Given the description of an element on the screen output the (x, y) to click on. 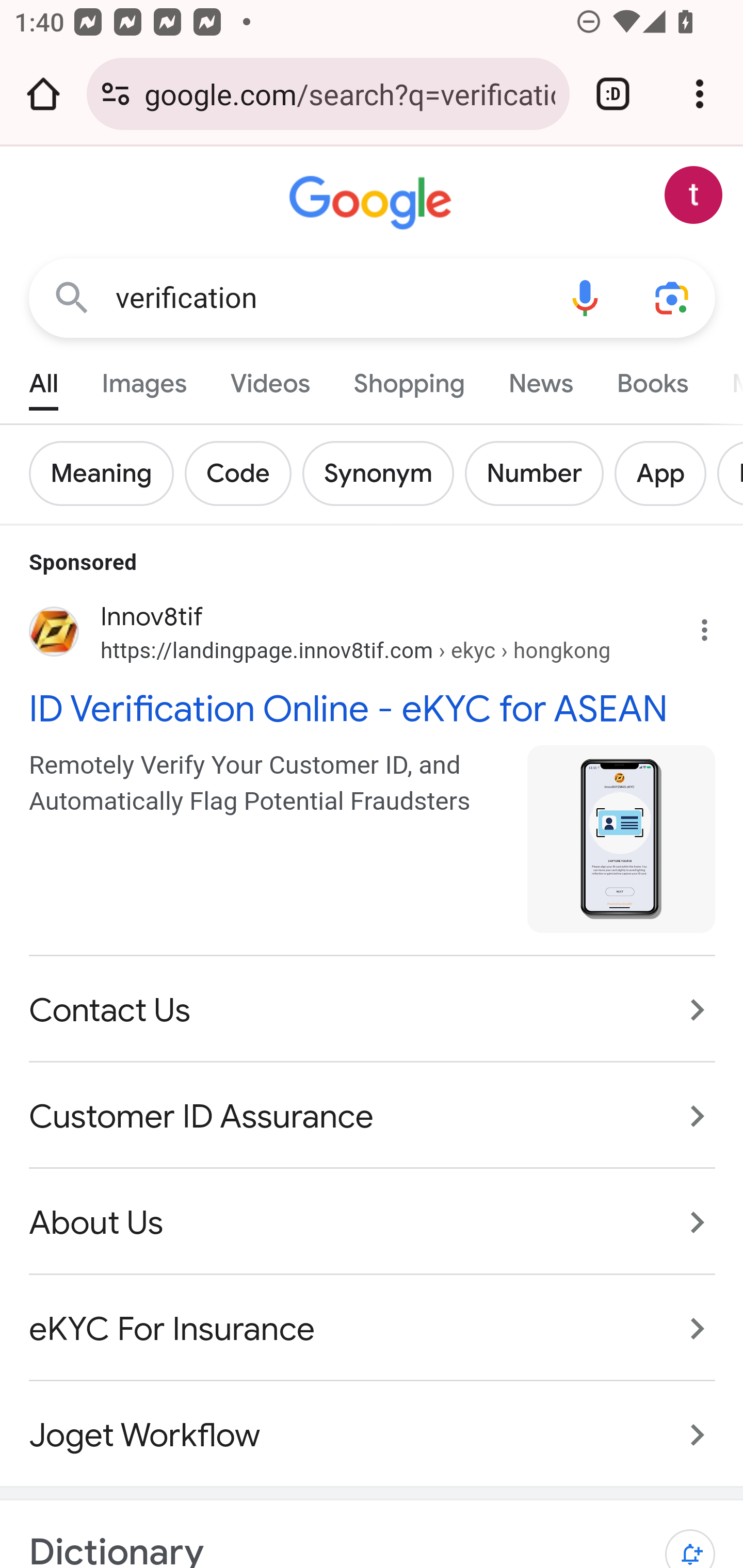
Open the home page (43, 93)
Connection is secure (115, 93)
Switch or close tabs (612, 93)
Customize and control Google Chrome (699, 93)
Google (372, 203)
Google Search (71, 296)
Search using your camera or photos (672, 296)
verification (328, 297)
Images (144, 378)
Videos (270, 378)
Shopping (408, 378)
News (540, 378)
Books (652, 378)
Add Meaning Meaning (106, 473)
Add Code Code (243, 473)
Add Synonym Synonym (383, 473)
Add Number Number (539, 473)
Add App App (665, 473)
Why this ad? (714, 625)
ID Verification Online - eKYC for ASEAN (372, 707)
Image from innov8tif.com (621, 837)
Contact Us (372, 1009)
Customer ID Assurance (372, 1116)
About Us (372, 1222)
eKYC For Insurance (372, 1329)
Joget Workflow (372, 1424)
Get notifications about Word of the day (690, 1538)
